Given the description of an element on the screen output the (x, y) to click on. 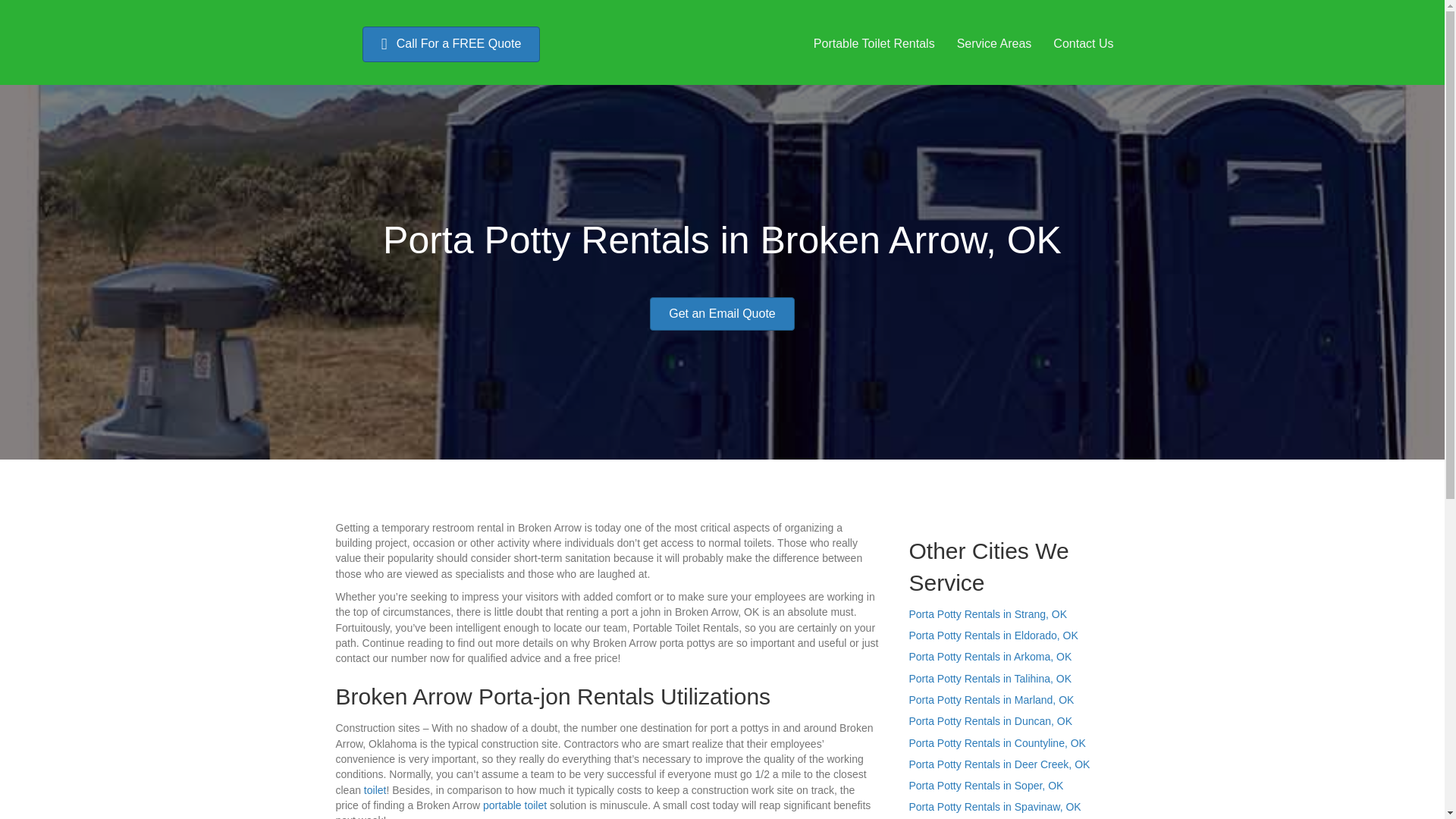
Service Areas (994, 43)
Call For a FREE Quote (451, 44)
Porta Potty Rentals in Arkoma, OK (989, 656)
Porta Potty Rentals in Strang, OK (987, 613)
Porta Potty Rentals in Marland, OK (991, 699)
Porta Potty Rentals in Deer Creek, OK (998, 764)
Porta Potty Rentals in Arkoma, OK (989, 656)
Porta Potty Rentals in Countyline, OK (996, 743)
Porta Potty Rentals in Talihina, OK (989, 678)
Porta Potty Rentals in Eldorado, OK (992, 635)
toilet (375, 789)
Porta Potty Rentals in Soper, OK (985, 785)
Get an Email Quote (721, 313)
Contact Us (1083, 43)
Porta Potty Rentals in Countyline, OK (996, 743)
